Given the description of an element on the screen output the (x, y) to click on. 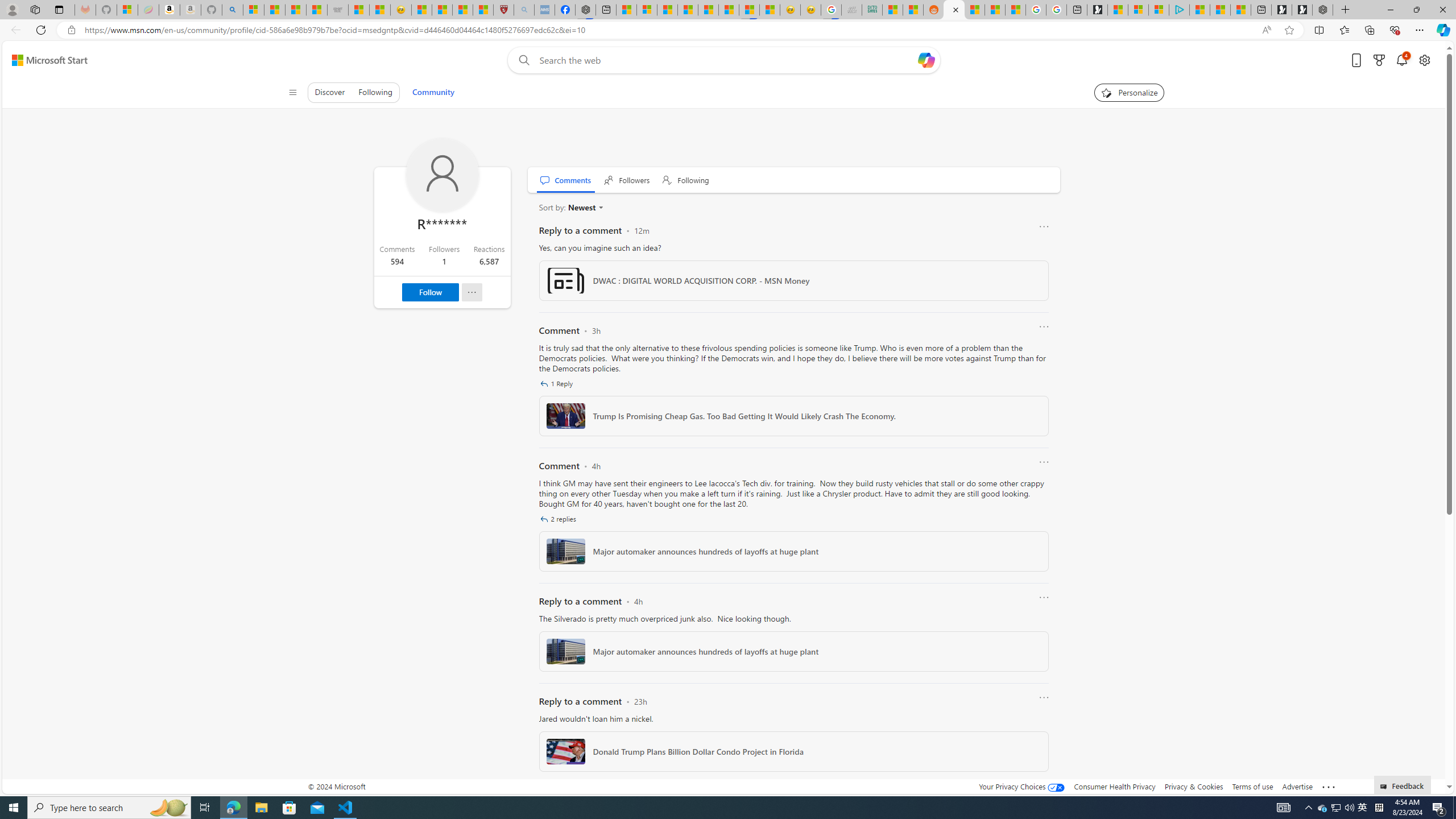
Class: control icon-only (292, 92)
Personalize your feed" (1129, 92)
Content thumbnail (565, 751)
Community (432, 92)
